Given the description of an element on the screen output the (x, y) to click on. 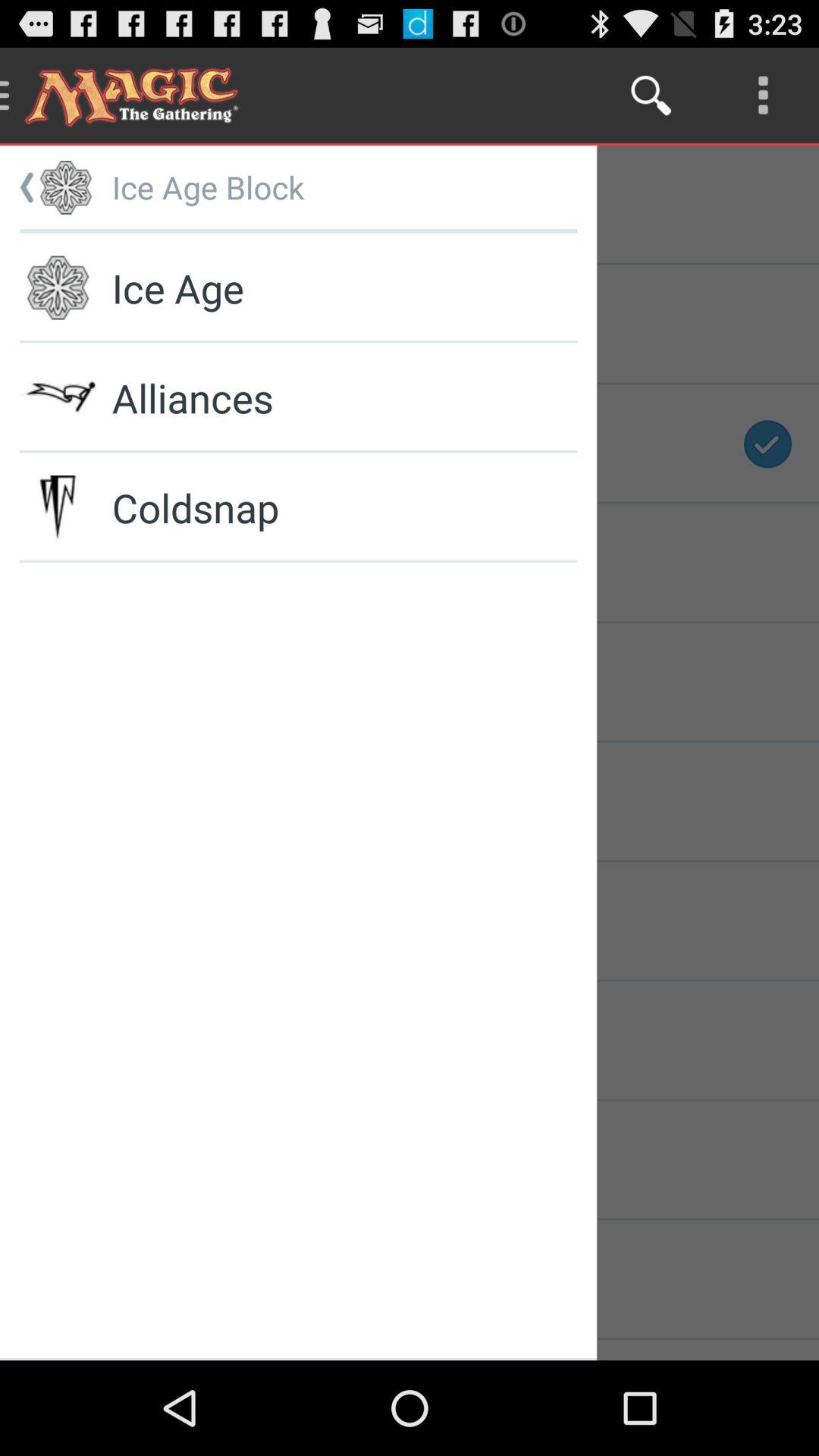
click on the icon tick (768, 443)
select the text magic the  gathering (138, 95)
